Given the description of an element on the screen output the (x, y) to click on. 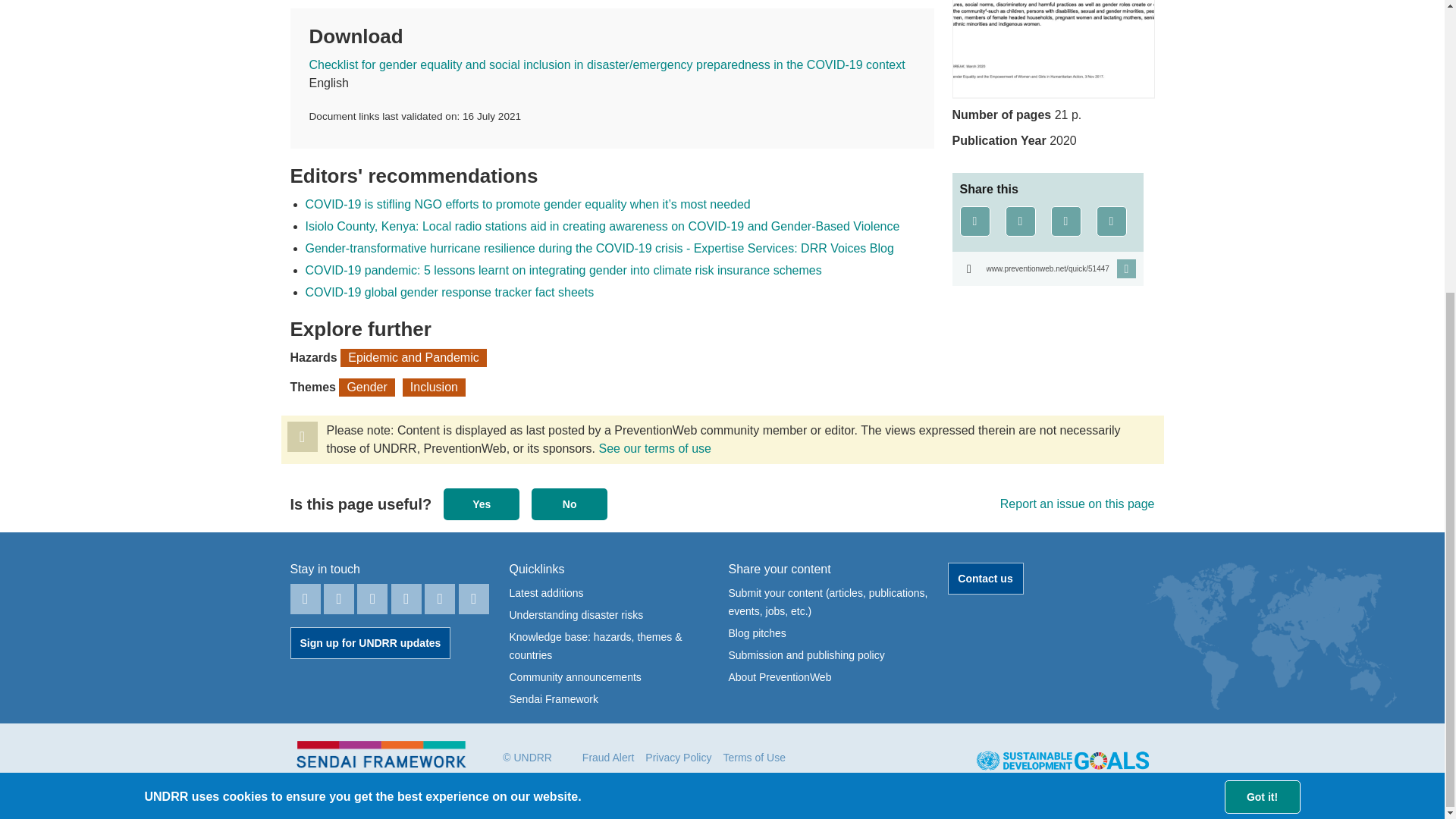
Gender (366, 387)
Epidemic and Pandemic (413, 357)
Copy to Clipboard (1047, 268)
Inclusion (434, 387)
Share on LinkedIn (1066, 221)
Share on Facebook (974, 221)
COVID-19 global gender response tracker fact sheets (449, 291)
Share on Twitter (1020, 221)
Share via Email (1111, 221)
